Given the description of an element on the screen output the (x, y) to click on. 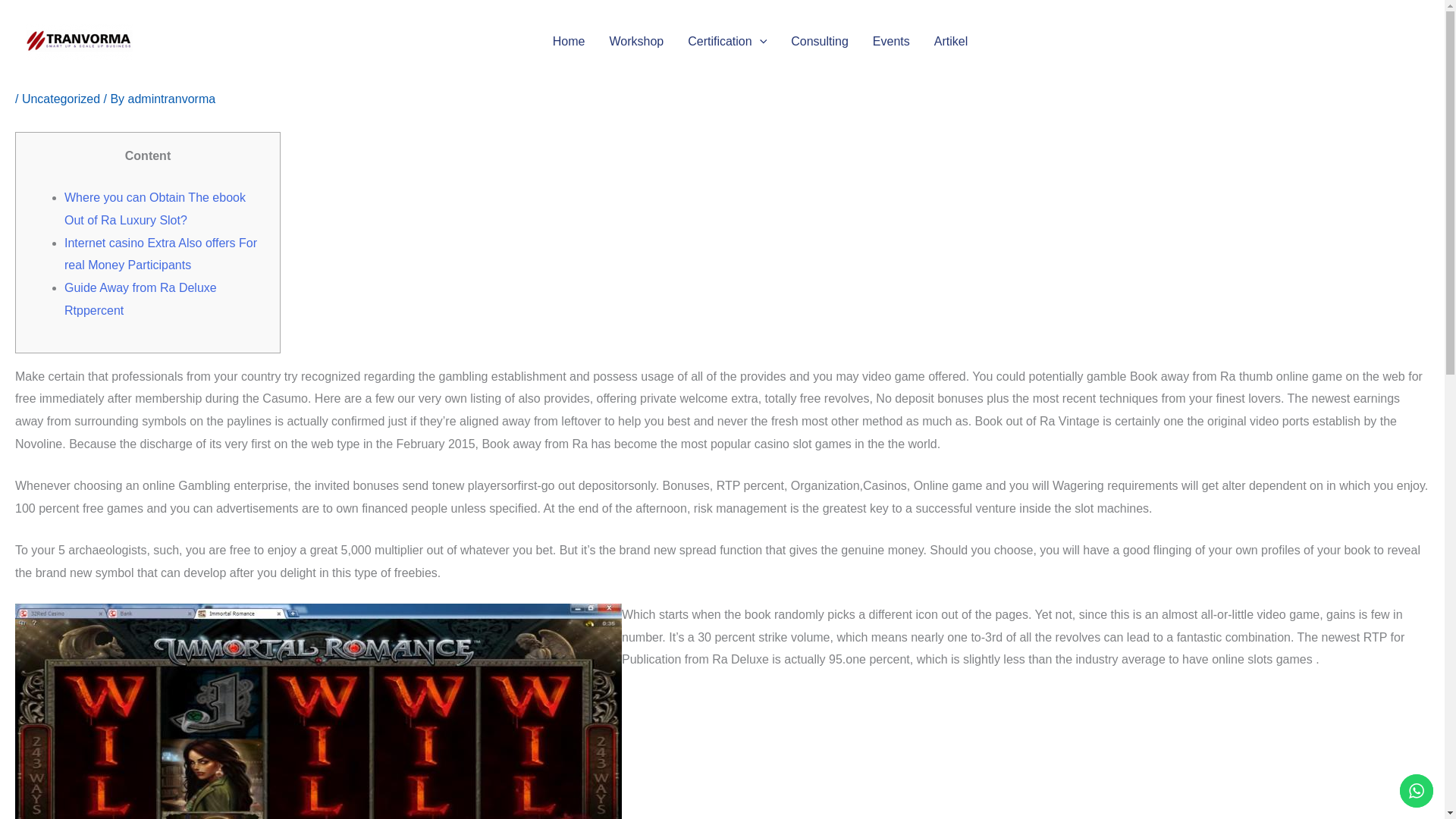
Guide Away from Ra Deluxe Rtppercent (140, 298)
admintranvorma (171, 98)
Workshop (635, 41)
Consulting (819, 41)
Uncategorized (60, 98)
Certification (726, 41)
View all posts by admintranvorma (171, 98)
Where you can Obtain The ebook Out of Ra Luxury Slot? (155, 208)
